Given the description of an element on the screen output the (x, y) to click on. 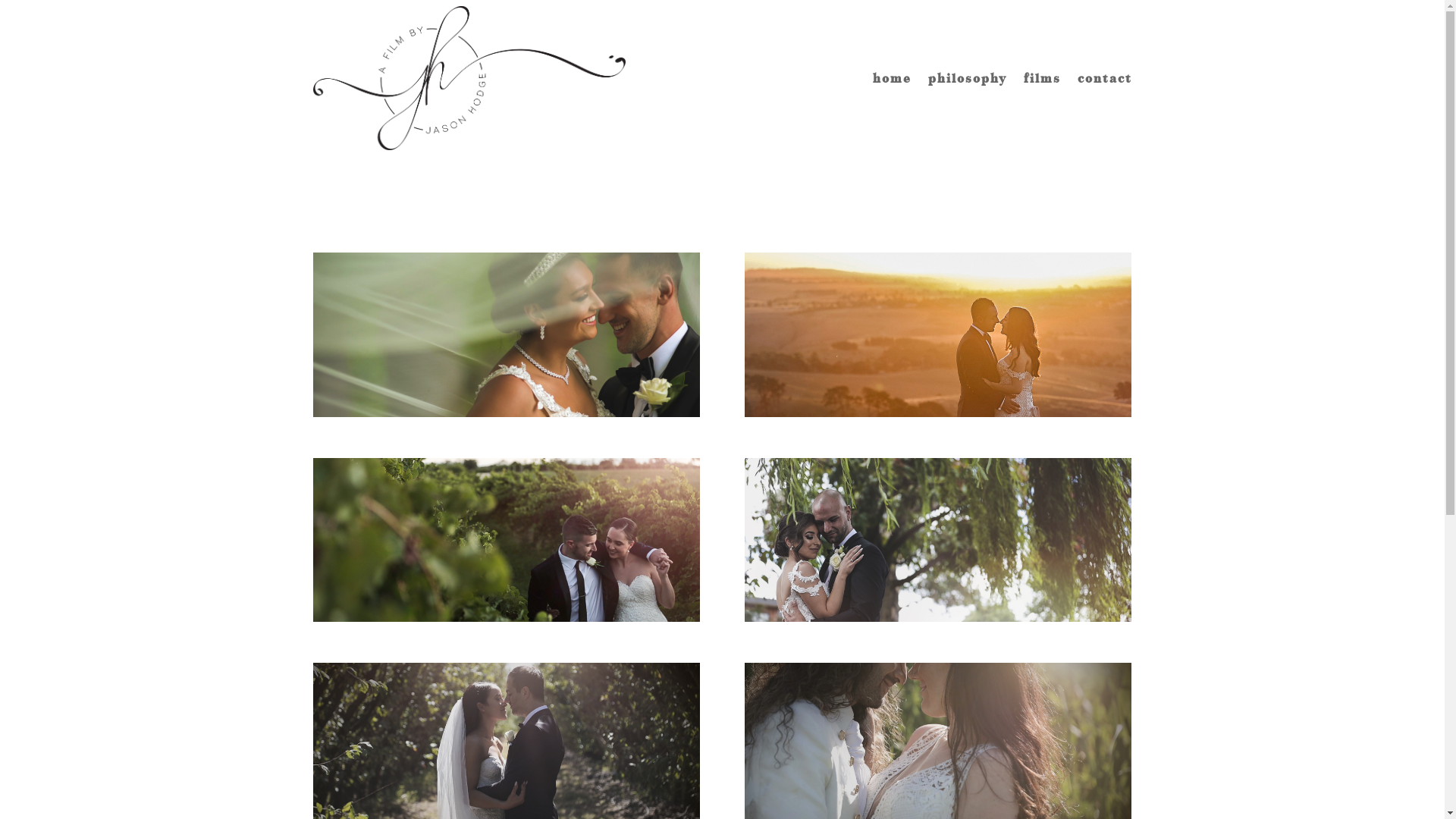
philosophy Element type: text (967, 78)
AnthCris Element type: hover (937, 334)
AdamAlana Park Hyatt Element type: hover (505, 334)
home Element type: text (891, 78)
contact Element type: text (1103, 78)
JohnAngela  Element type: hover (937, 539)
films Element type: text (1041, 78)
LukeCatherine Mitchelton Winery Element type: hover (505, 539)
